Given the description of an element on the screen output the (x, y) to click on. 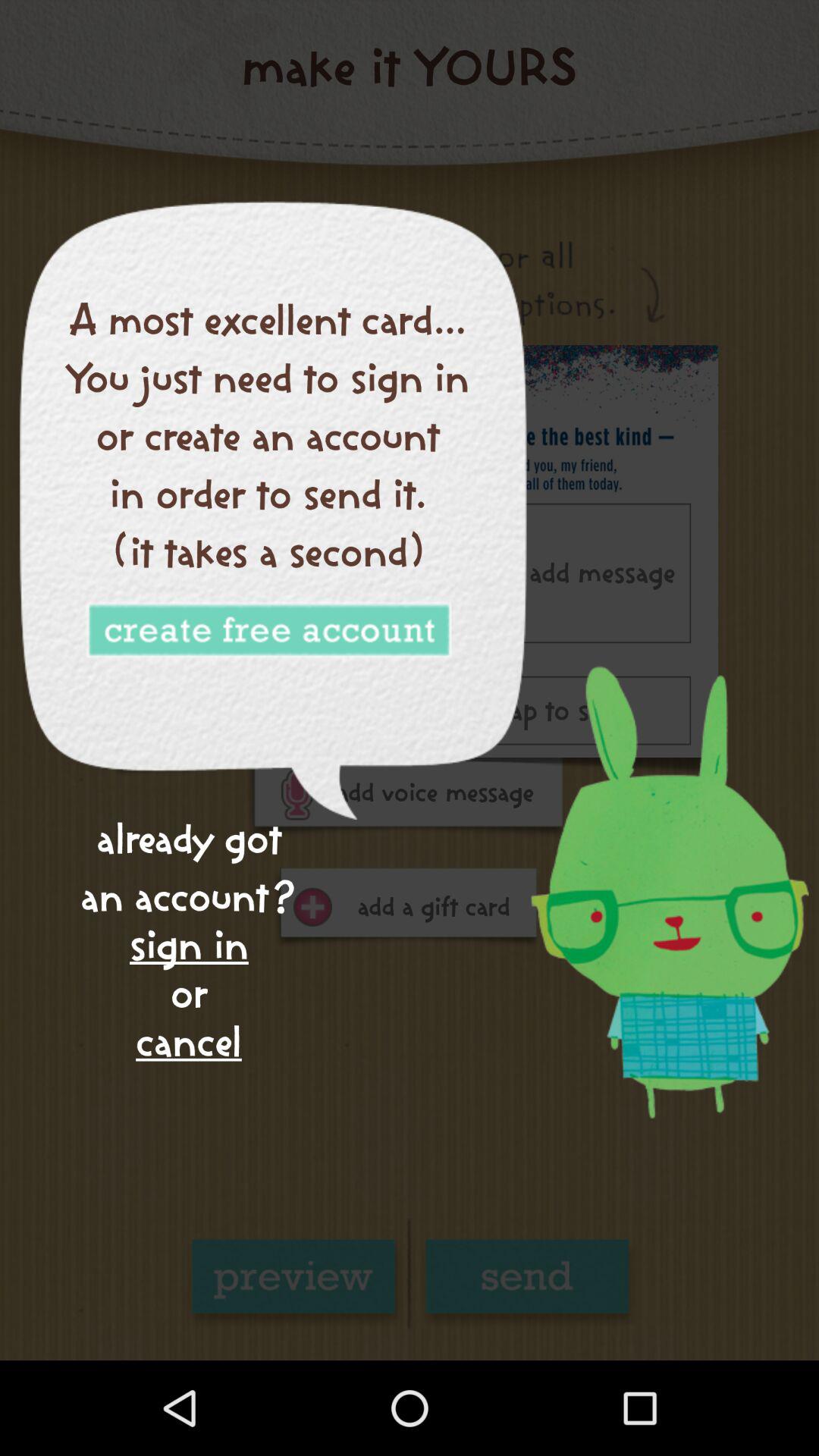
swipe until the cancel item (188, 1041)
